Given the description of an element on the screen output the (x, y) to click on. 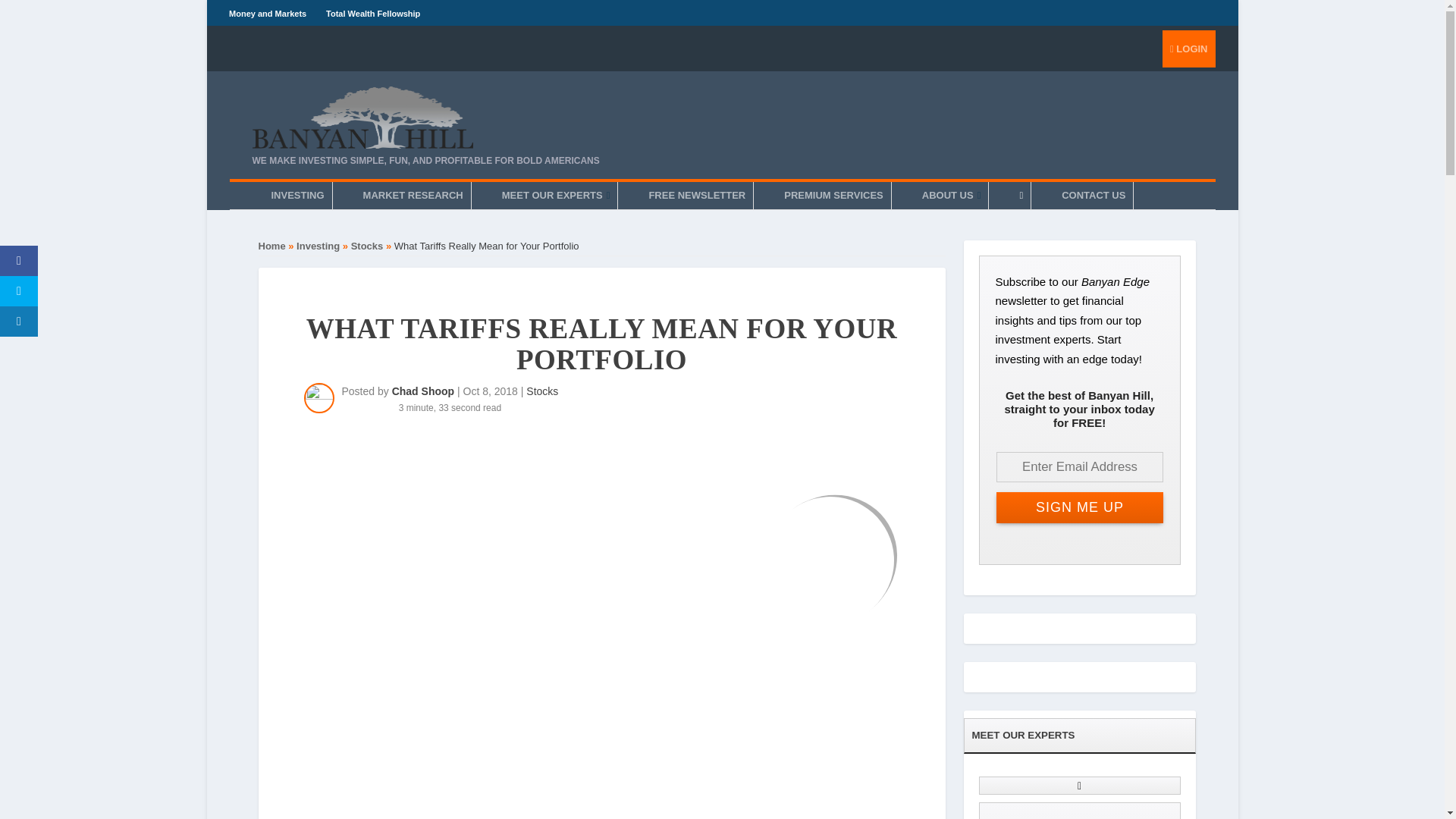
Stocks (541, 390)
PREMIUM SERVICES (833, 195)
INVESTING (297, 195)
Market Research (412, 195)
Home (271, 245)
Stocks (367, 245)
Posts by Chad Shoop (422, 390)
Investing (318, 245)
MEET OUR EXPERTS (556, 195)
FREE NEWSLETTER (696, 195)
